Given the description of an element on the screen output the (x, y) to click on. 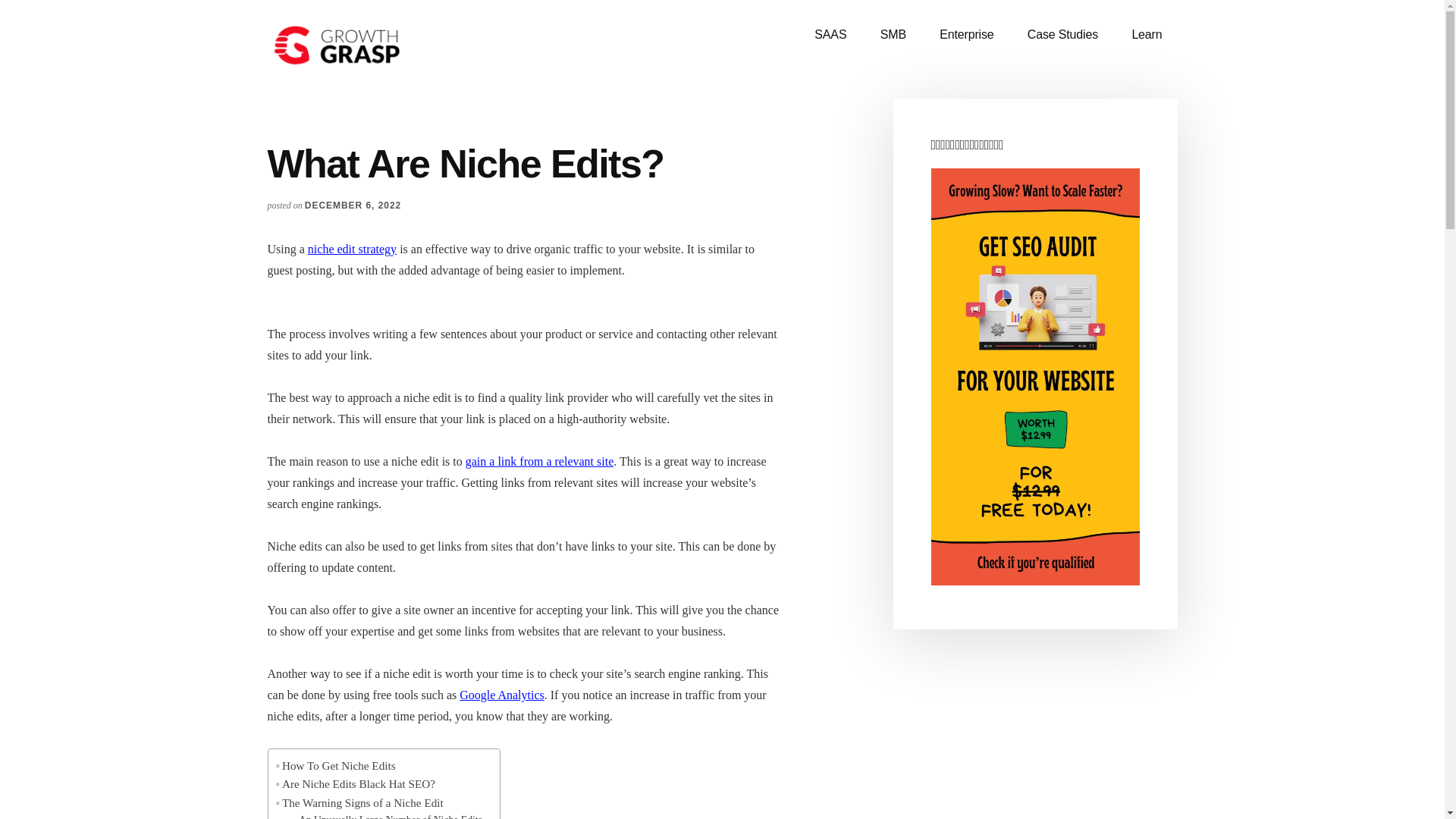
Case Studies (1062, 34)
The Warning Signs of a Niche Edit (360, 802)
SMB (892, 34)
Growth Grasp (380, 45)
Enterprise (966, 34)
An Unusually Large Number of Niche Edits  (388, 815)
How To Get Niche Edits (336, 765)
How To Get Niche Edits (336, 765)
The Warning Signs of a Niche Edit (360, 802)
